Given the description of an element on the screen output the (x, y) to click on. 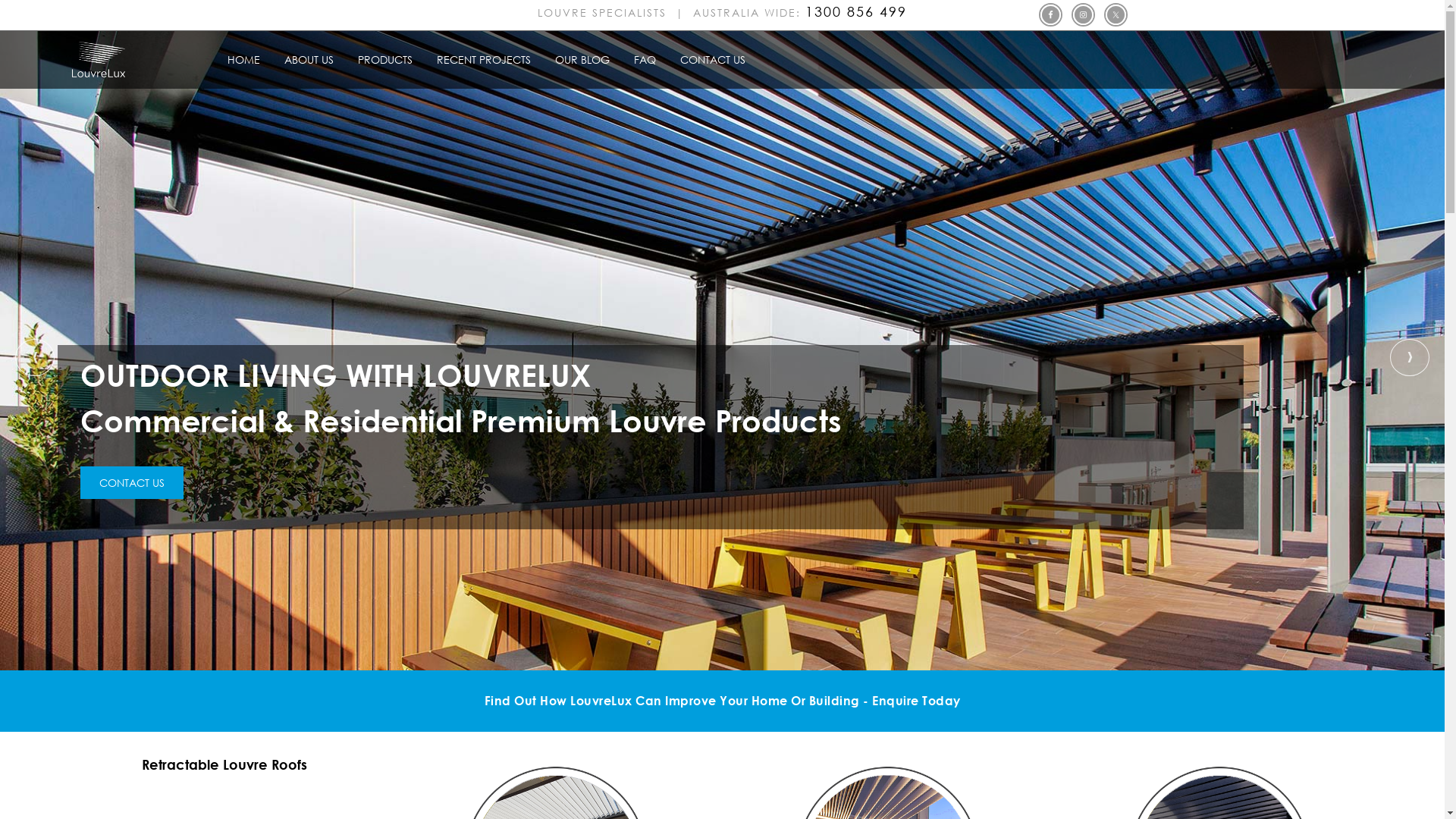
Retractable Louvre Roofs Element type: text (224, 764)
FAQ Element type: text (644, 59)
OUTDOOR LIVING WITH LOUVRELUX Element type: hover (722, 350)
OUR BLOG Element type: text (582, 59)
CONTACT US Element type: text (712, 59)
CONTACT US Element type: text (131, 482)
RECENT PROJECTS Element type: text (483, 59)
ABOUT US Element type: text (308, 59)
PRODUCTS Element type: text (385, 59)
HOME Element type: text (243, 59)
1300 856 499 Element type: text (855, 11)
